Given the description of an element on the screen output the (x, y) to click on. 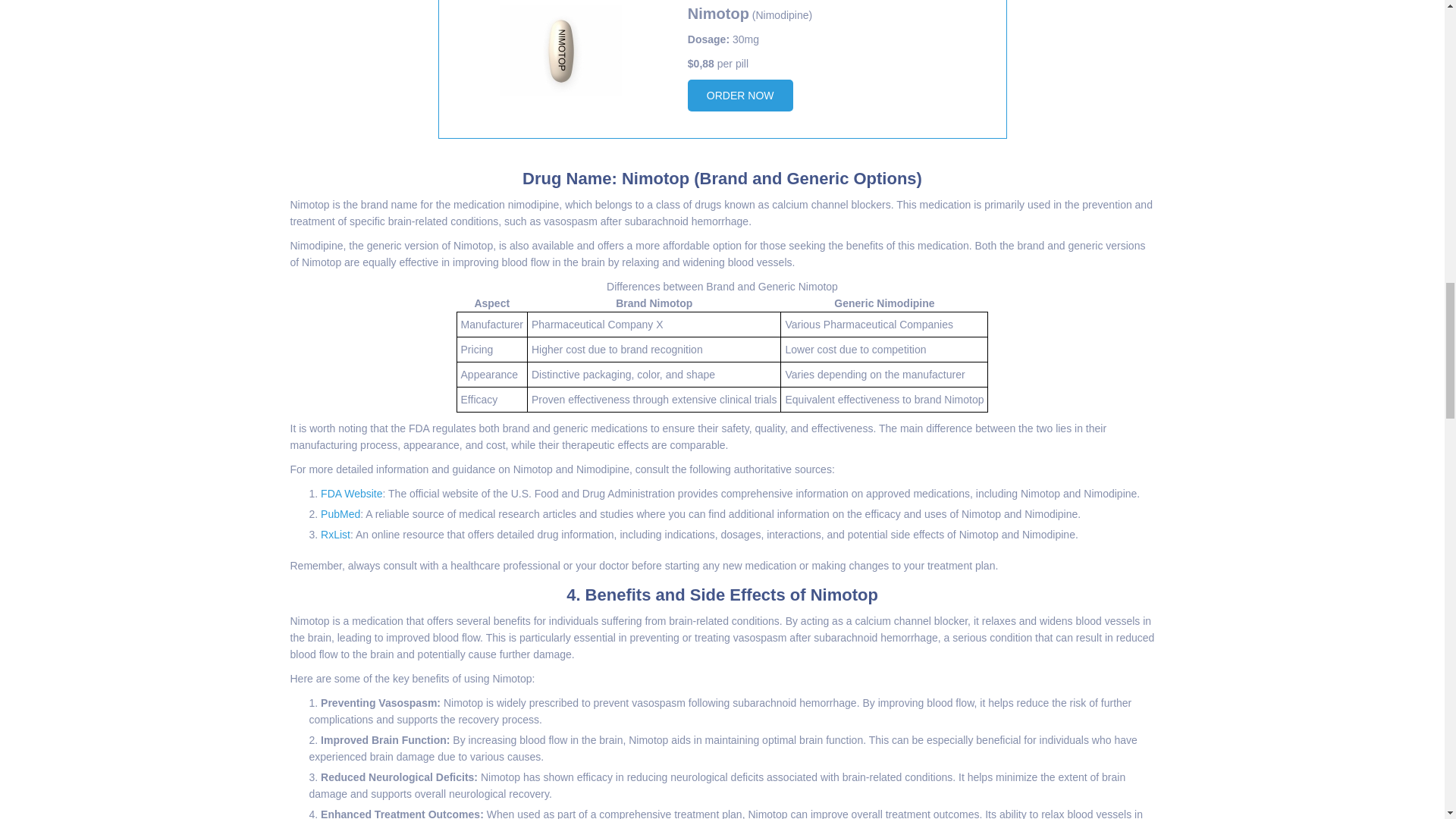
PubMed (339, 513)
ORDER NOW (740, 95)
RxList (335, 534)
FDA Website (350, 493)
